Given the description of an element on the screen output the (x, y) to click on. 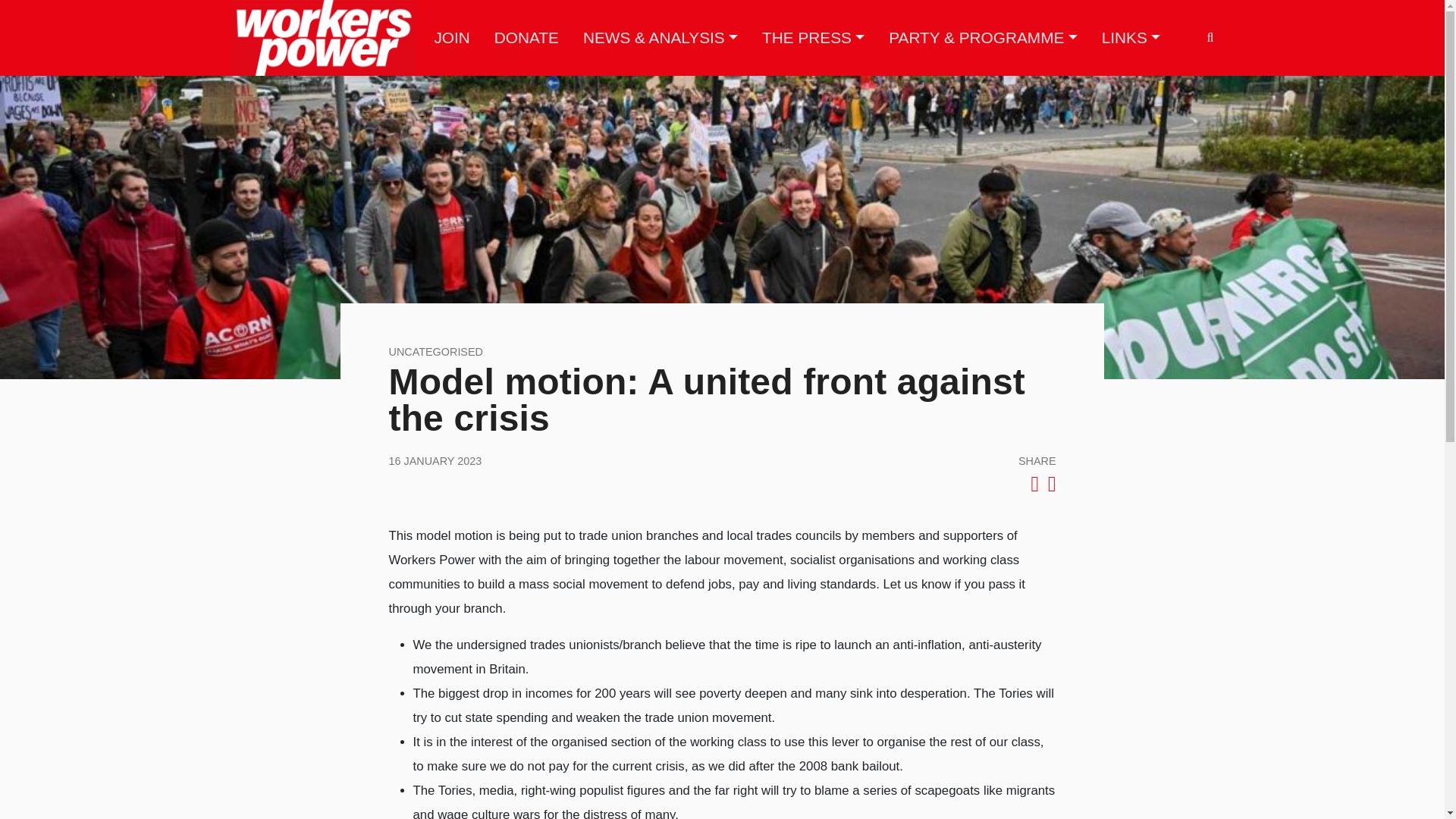
THE PRESS (812, 37)
JOIN (452, 37)
DONATE (525, 37)
